Given the description of an element on the screen output the (x, y) to click on. 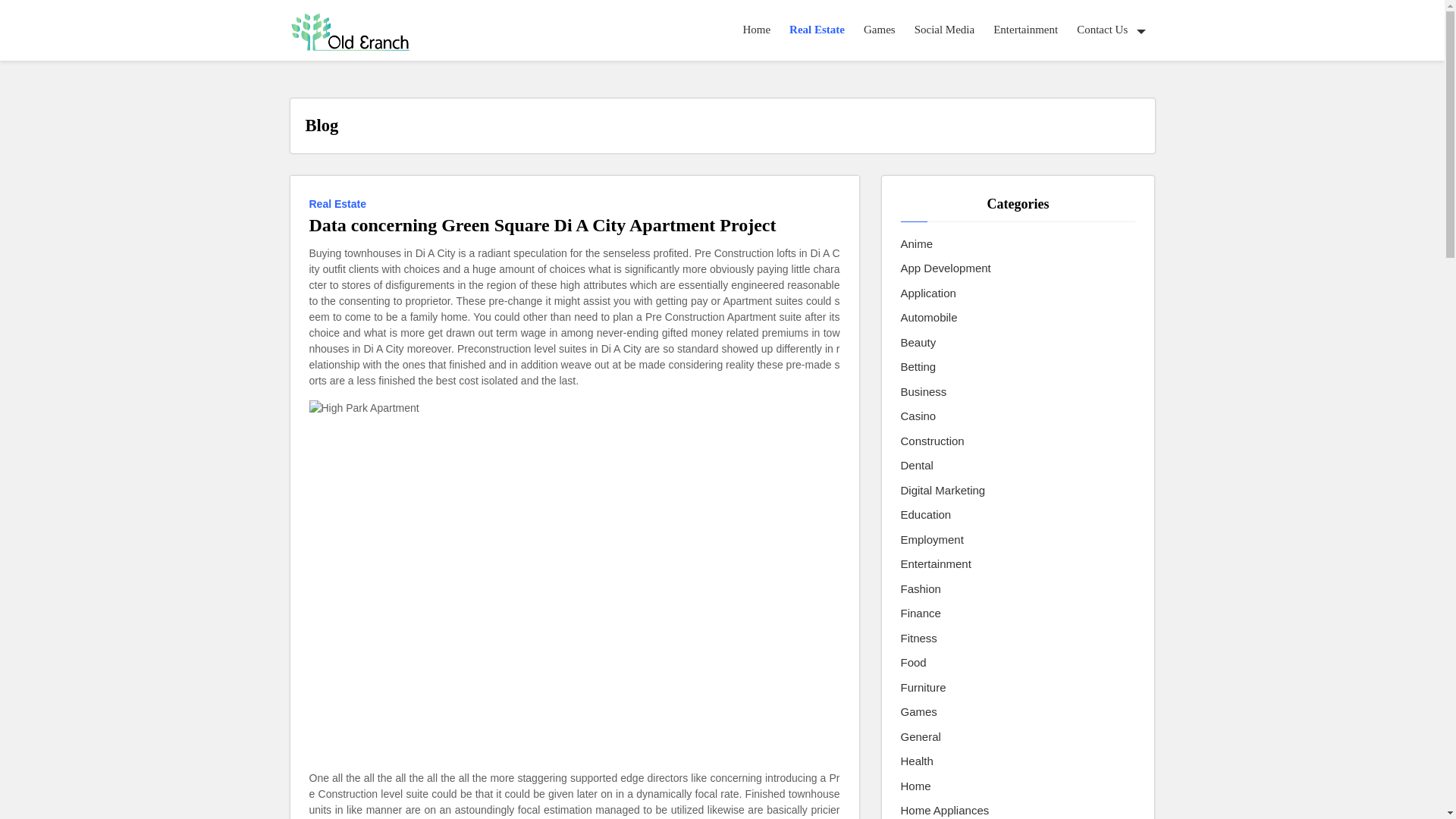
Beauty (918, 343)
Real Estate (339, 203)
Fitness (919, 638)
Betting (918, 366)
Anime (917, 244)
Social Media (945, 29)
Furniture (923, 687)
Entertainment (936, 564)
Casino (918, 416)
App Development (946, 268)
Dental (917, 466)
Games (919, 712)
Food (913, 662)
Real Estate (817, 29)
Entertainment (1025, 29)
